Given the description of an element on the screen output the (x, y) to click on. 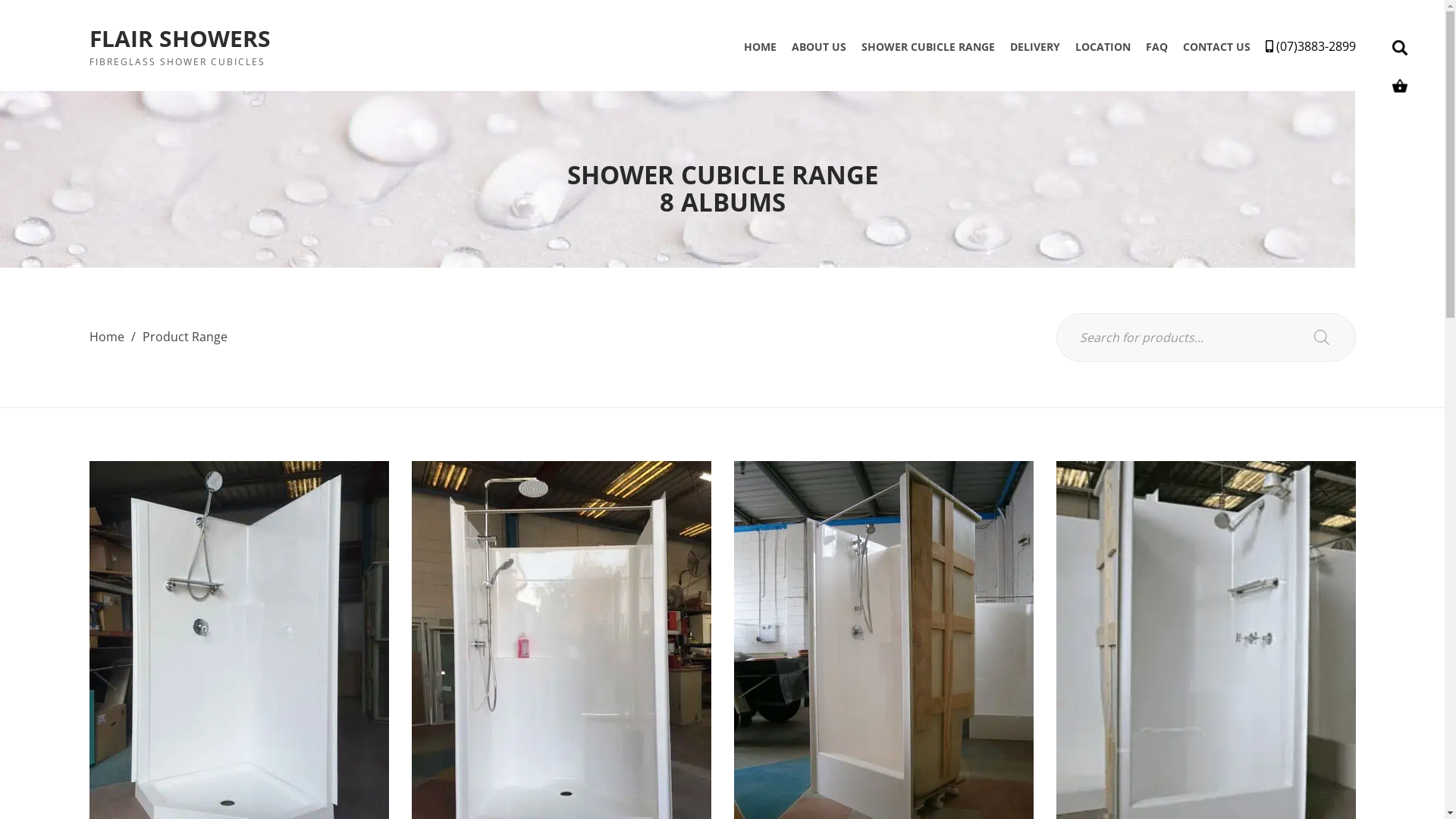
(07)3883-2899 Element type: text (1309, 45)
FLAIR SHOWERS
FIBREGLASS SHOWER CUBICLES Element type: text (179, 45)
LOCATION Element type: text (1102, 46)
CONTACT US Element type: text (1216, 46)
Home Element type: text (106, 336)
SHOWER CUBICLE RANGE Element type: text (927, 46)
FAQ Element type: text (1156, 46)
HOME Element type: text (759, 46)
Product Range Element type: text (184, 336)
ABOUT US Element type: text (818, 46)
DELIVERY Element type: text (1035, 46)
